Given the description of an element on the screen output the (x, y) to click on. 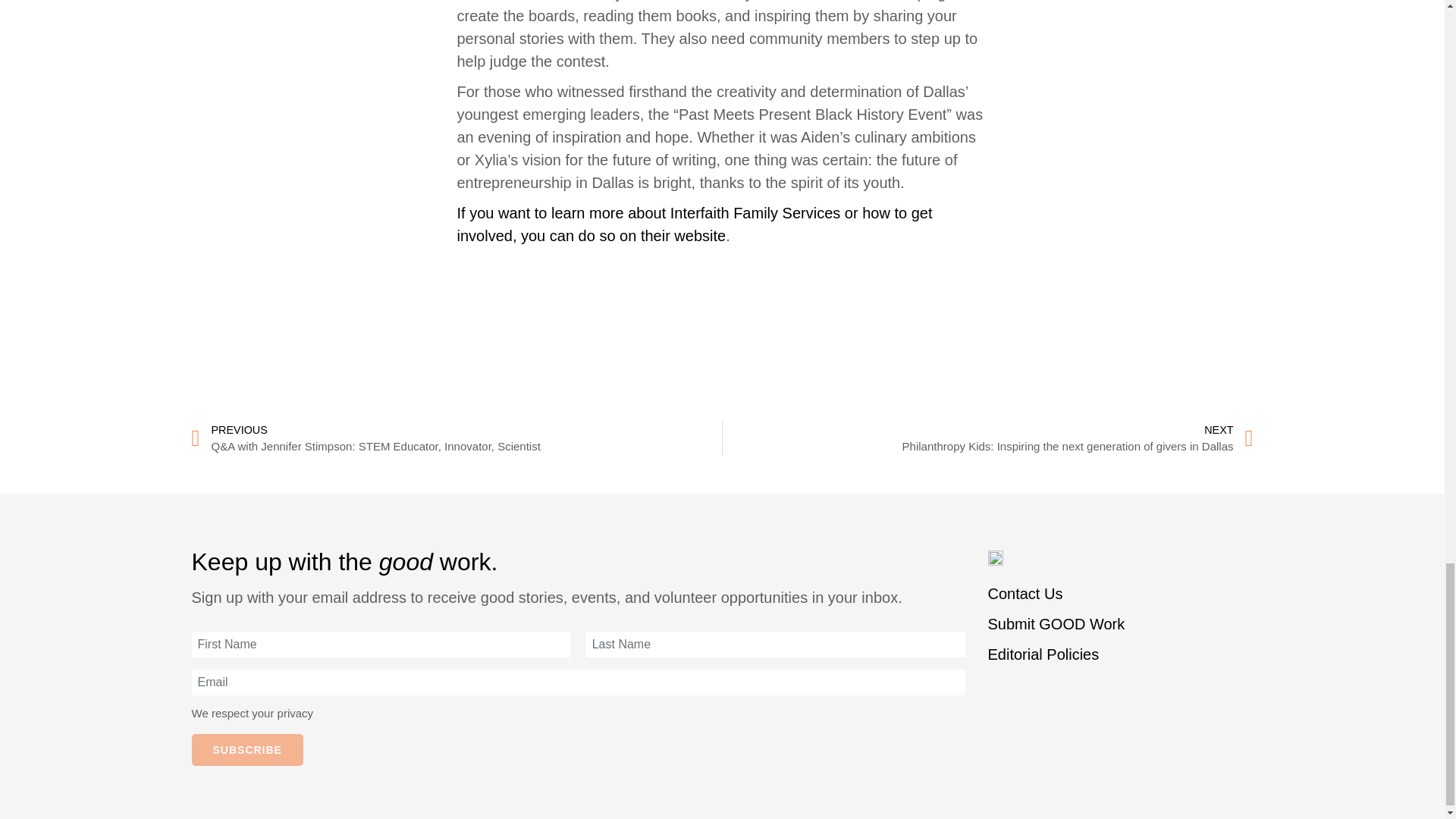
Subscribe (246, 749)
Subscribe (246, 749)
Contact Us (1024, 593)
